Given the description of an element on the screen output the (x, y) to click on. 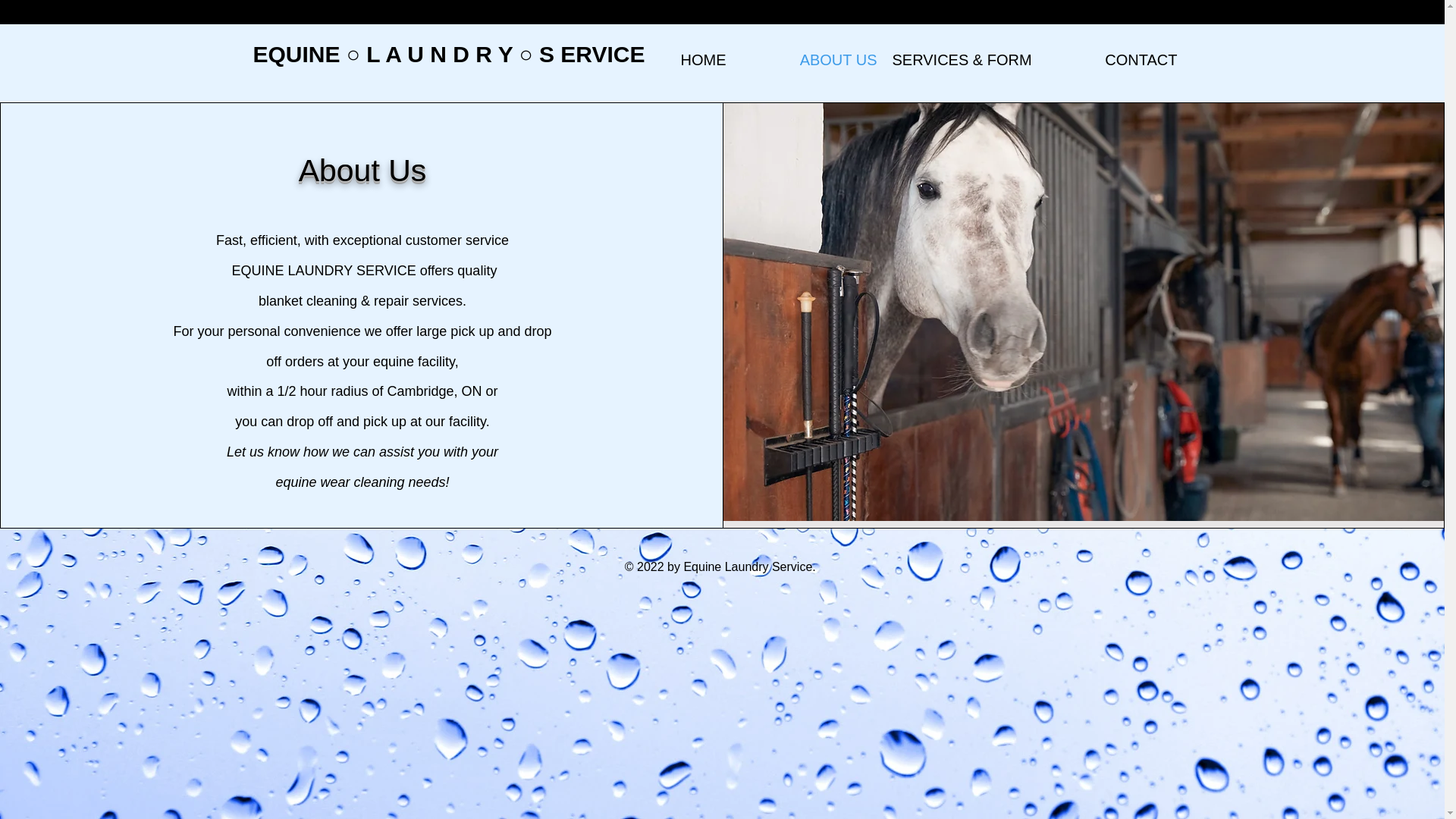
HOME (657, 59)
CONTACT (1109, 59)
ABOUT US (809, 59)
